Given the description of an element on the screen output the (x, y) to click on. 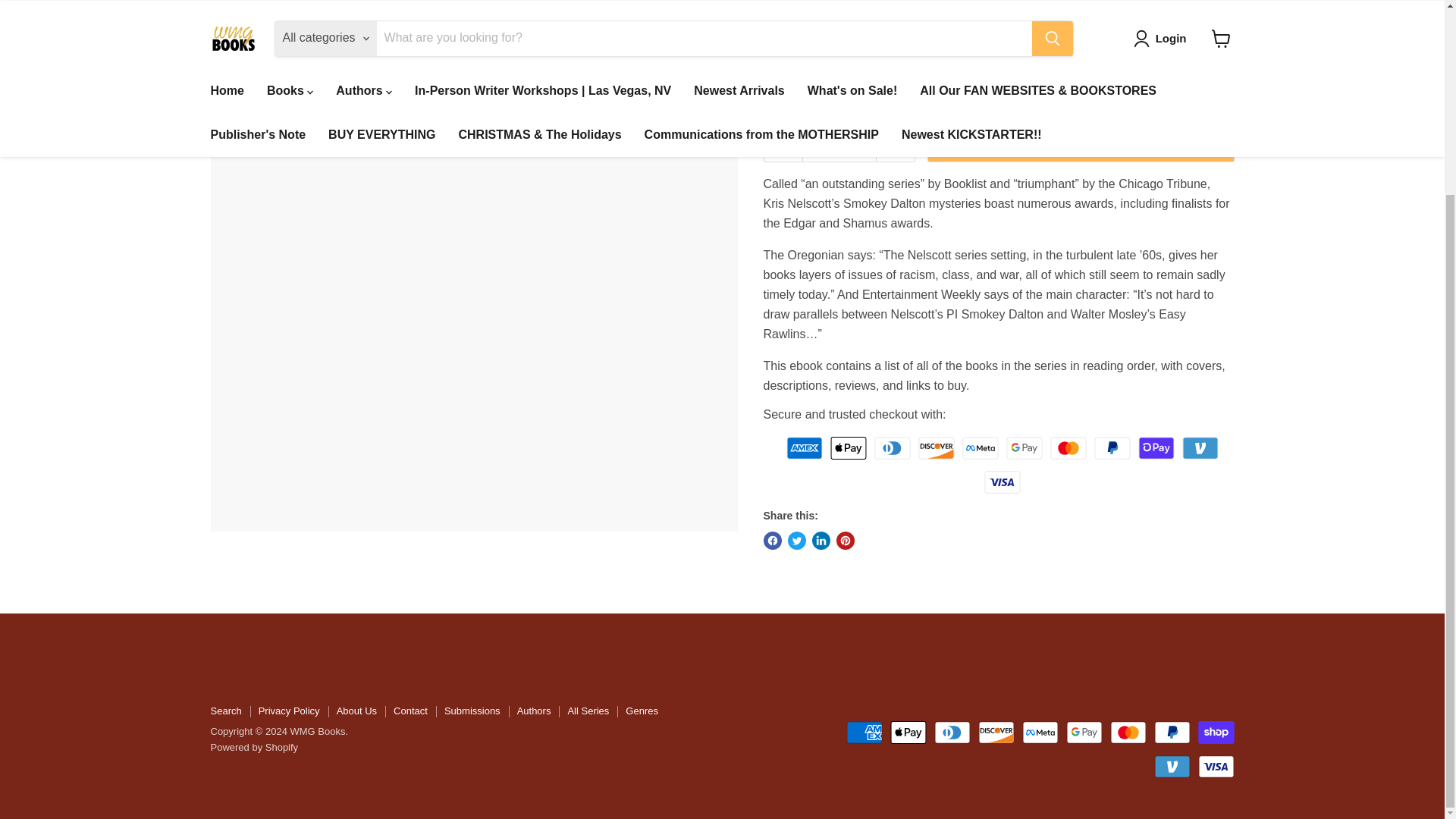
Meta Pay (980, 447)
Visa (1002, 481)
Venmo (1200, 447)
Google Pay (1024, 447)
Mastercard (1067, 447)
Shop Pay (1156, 447)
Diners Club (893, 447)
American Express (804, 447)
Apple Pay (847, 447)
1 (839, 141)
